Given the description of an element on the screen output the (x, y) to click on. 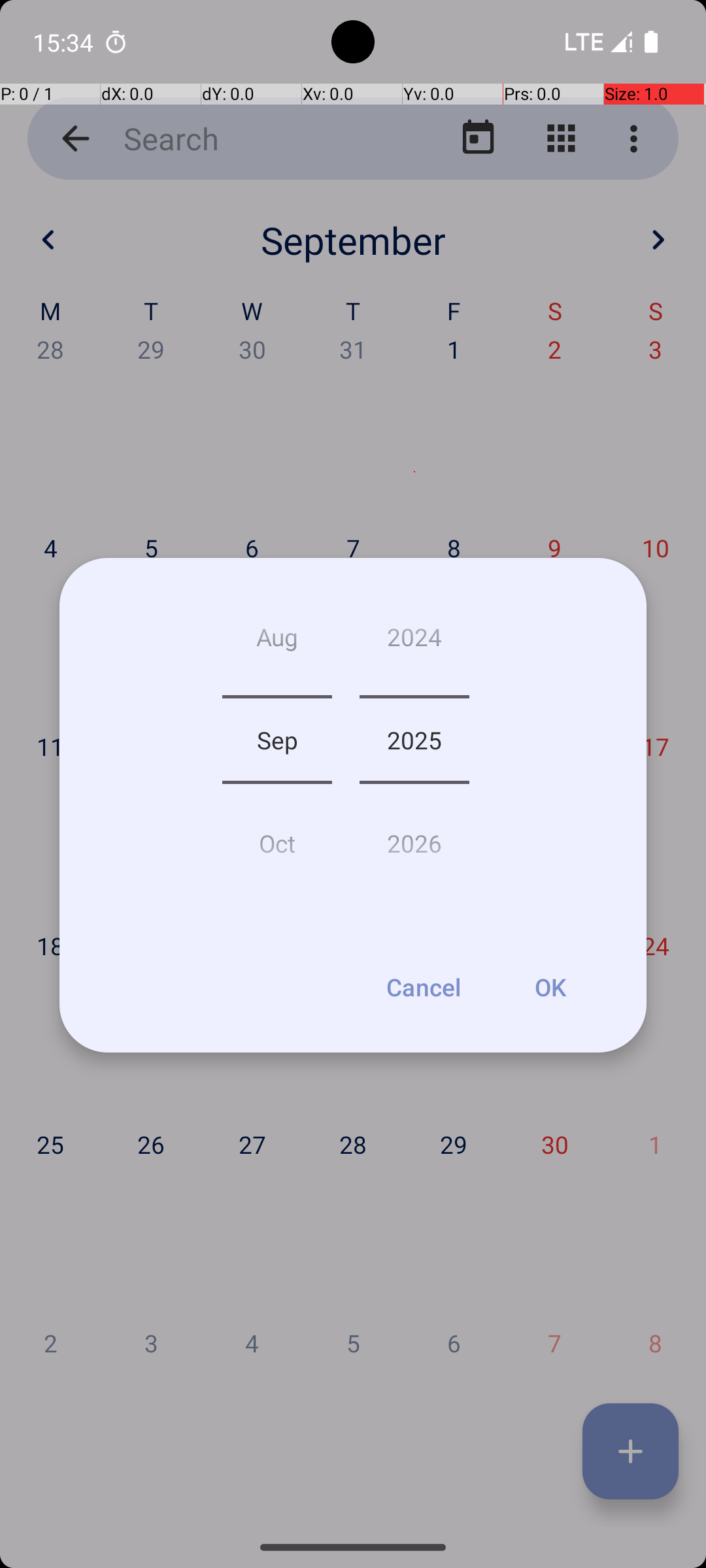
Aug Element type: android.widget.Button (277, 641)
2025 Element type: android.widget.EditText (414, 739)
2026 Element type: android.widget.Button (414, 837)
